Given the description of an element on the screen output the (x, y) to click on. 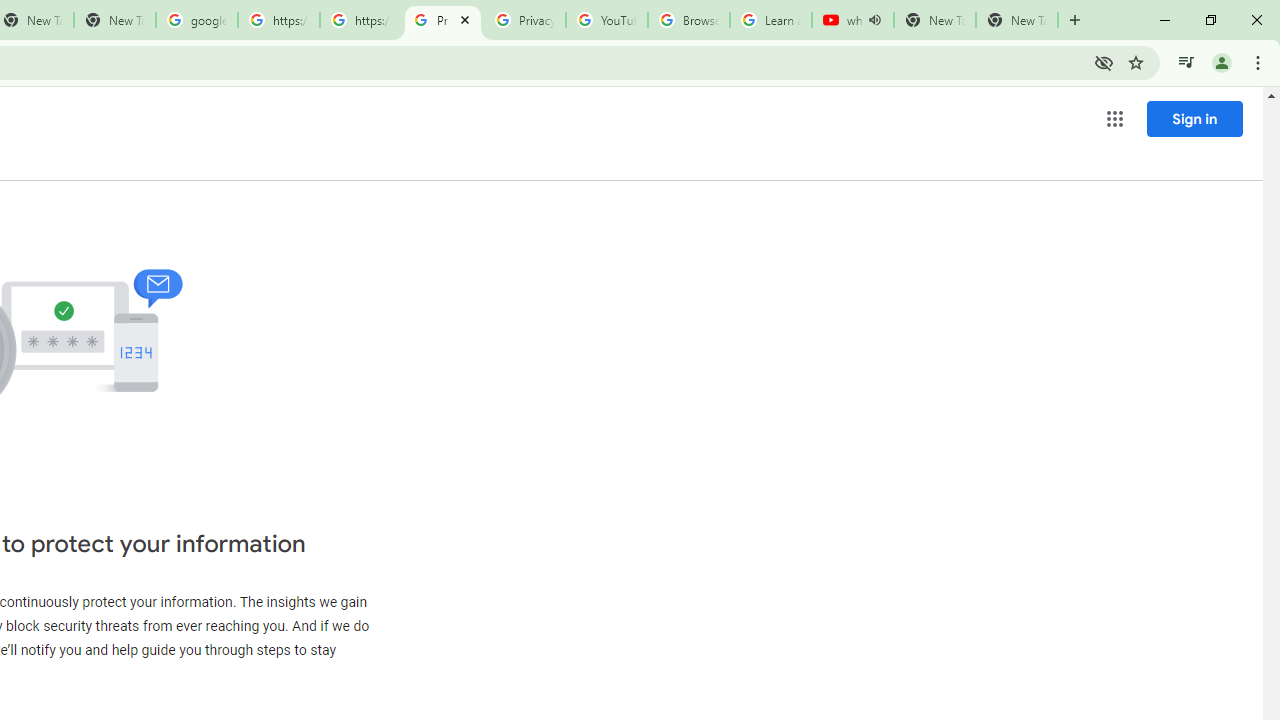
New Tab (1016, 20)
New Tab (1075, 20)
Restore (1210, 20)
Bookmark this tab (1135, 62)
https://scholar.google.com/ (360, 20)
